Given the description of an element on the screen output the (x, y) to click on. 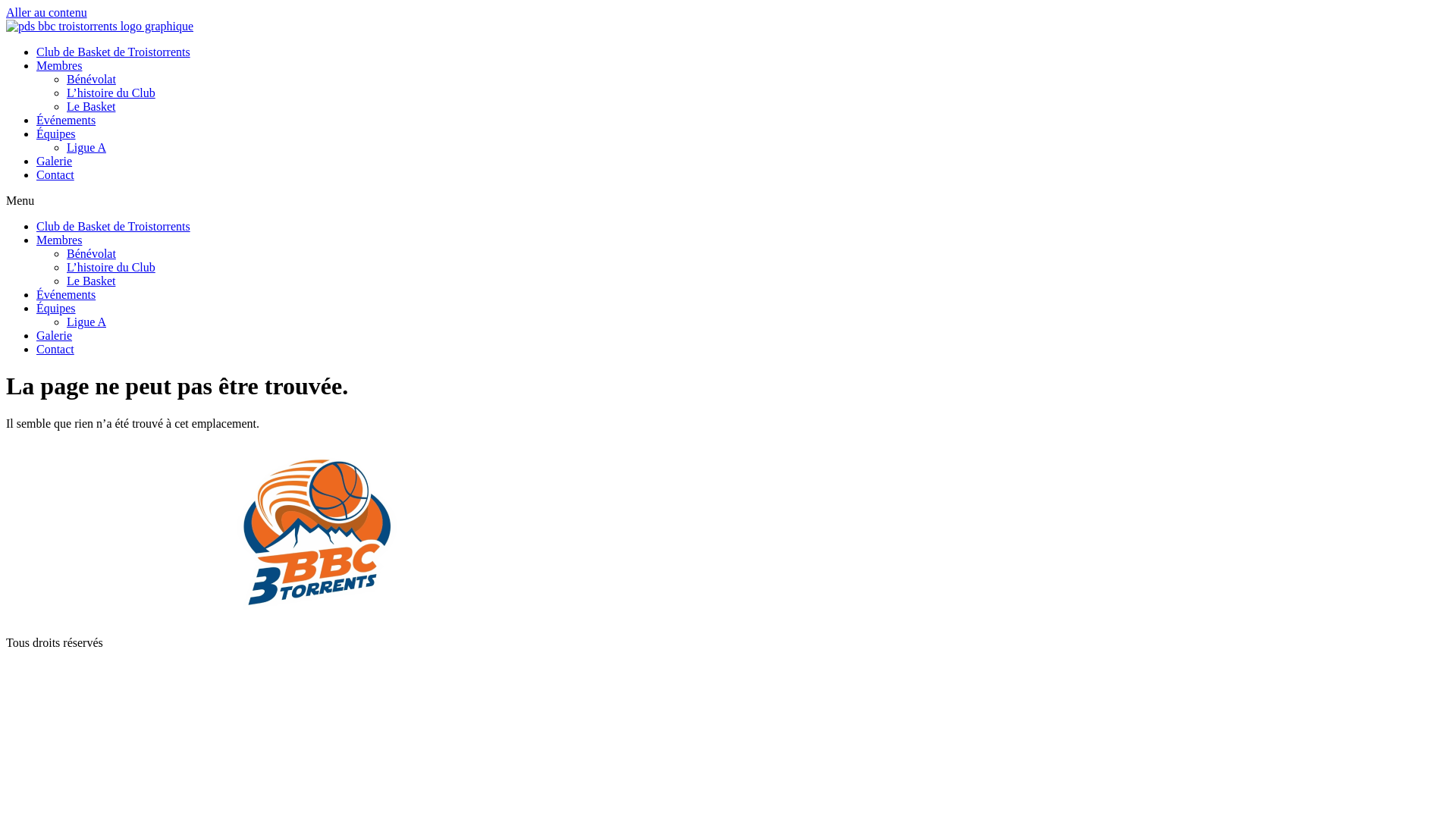
Club de Basket de Troistorrents Element type: text (113, 51)
Ligue A Element type: text (86, 147)
Contact Element type: text (55, 348)
Le Basket Element type: text (90, 280)
Galerie Element type: text (54, 160)
Aller au contenu Element type: text (46, 12)
Ligue A Element type: text (86, 321)
Galerie Element type: text (54, 335)
Membres Element type: text (58, 65)
Le Basket Element type: text (90, 106)
Contact Element type: text (55, 174)
Membres Element type: text (58, 239)
Club de Basket de Troistorrents Element type: text (113, 225)
